Given the description of an element on the screen output the (x, y) to click on. 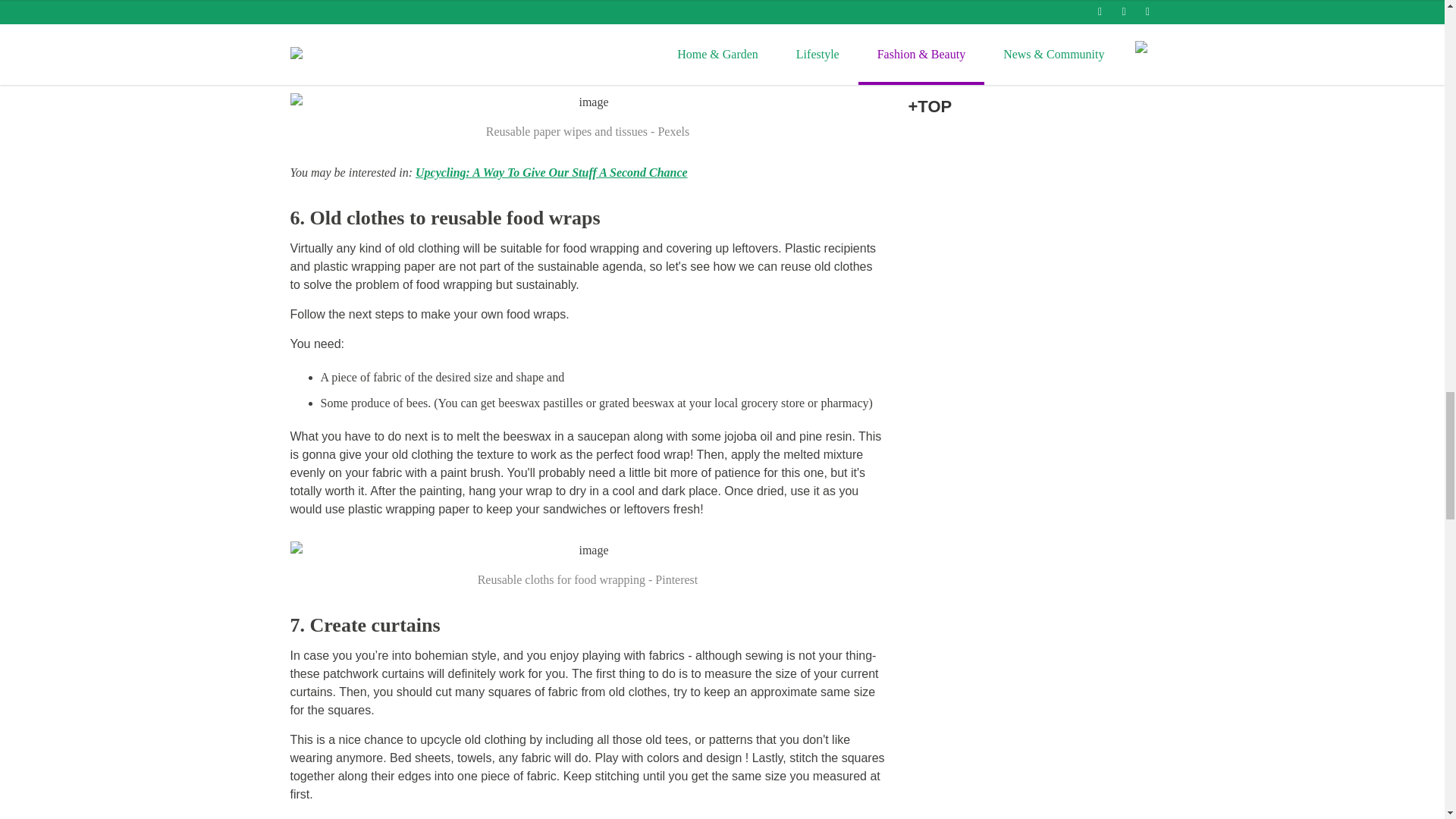
image (587, 102)
image (587, 550)
Upcycling: A Way To Give Our Stuff A Second Chance (550, 172)
